Given the description of an element on the screen output the (x, y) to click on. 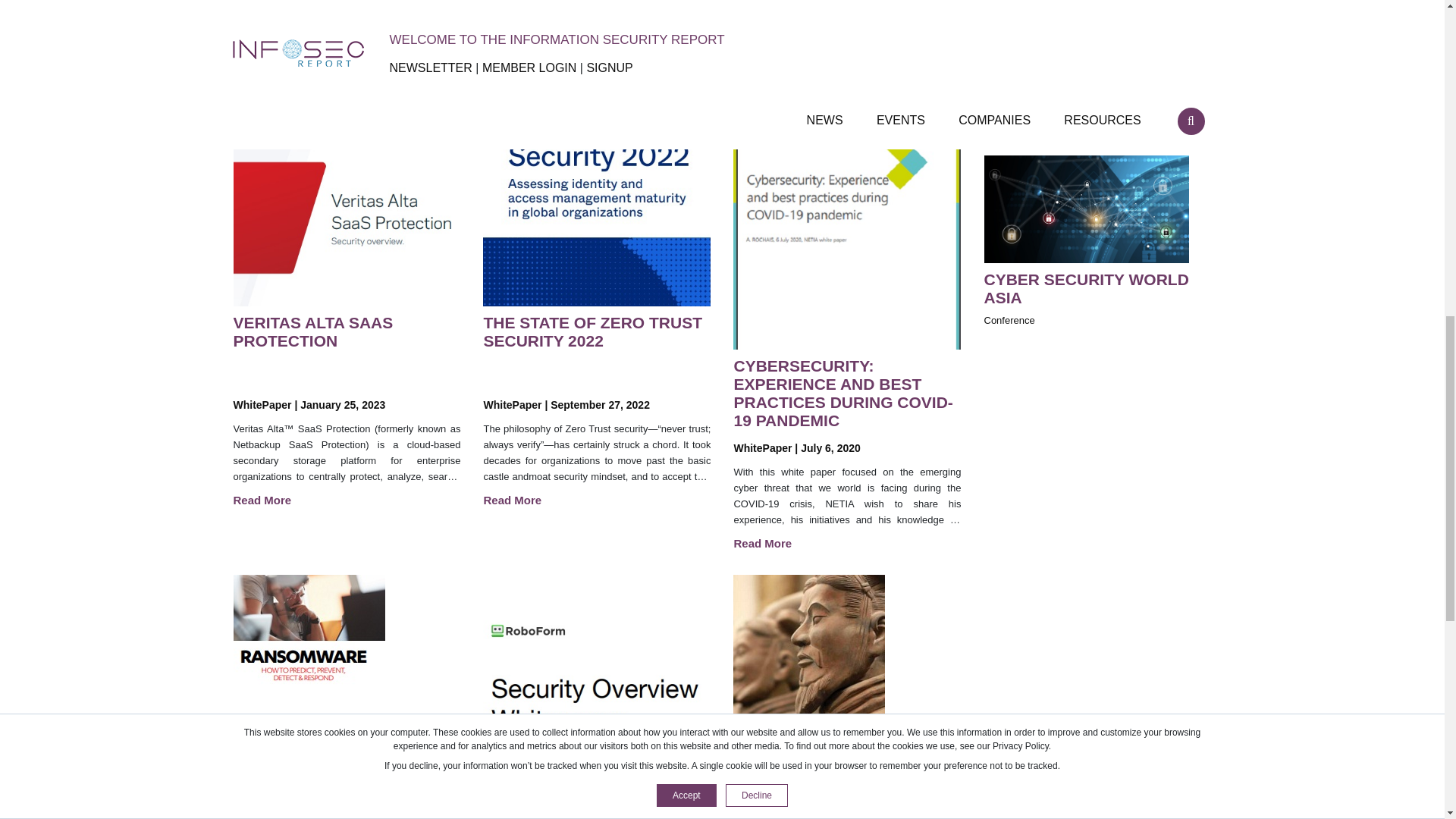
Advertisement (1094, 40)
